Given the description of an element on the screen output the (x, y) to click on. 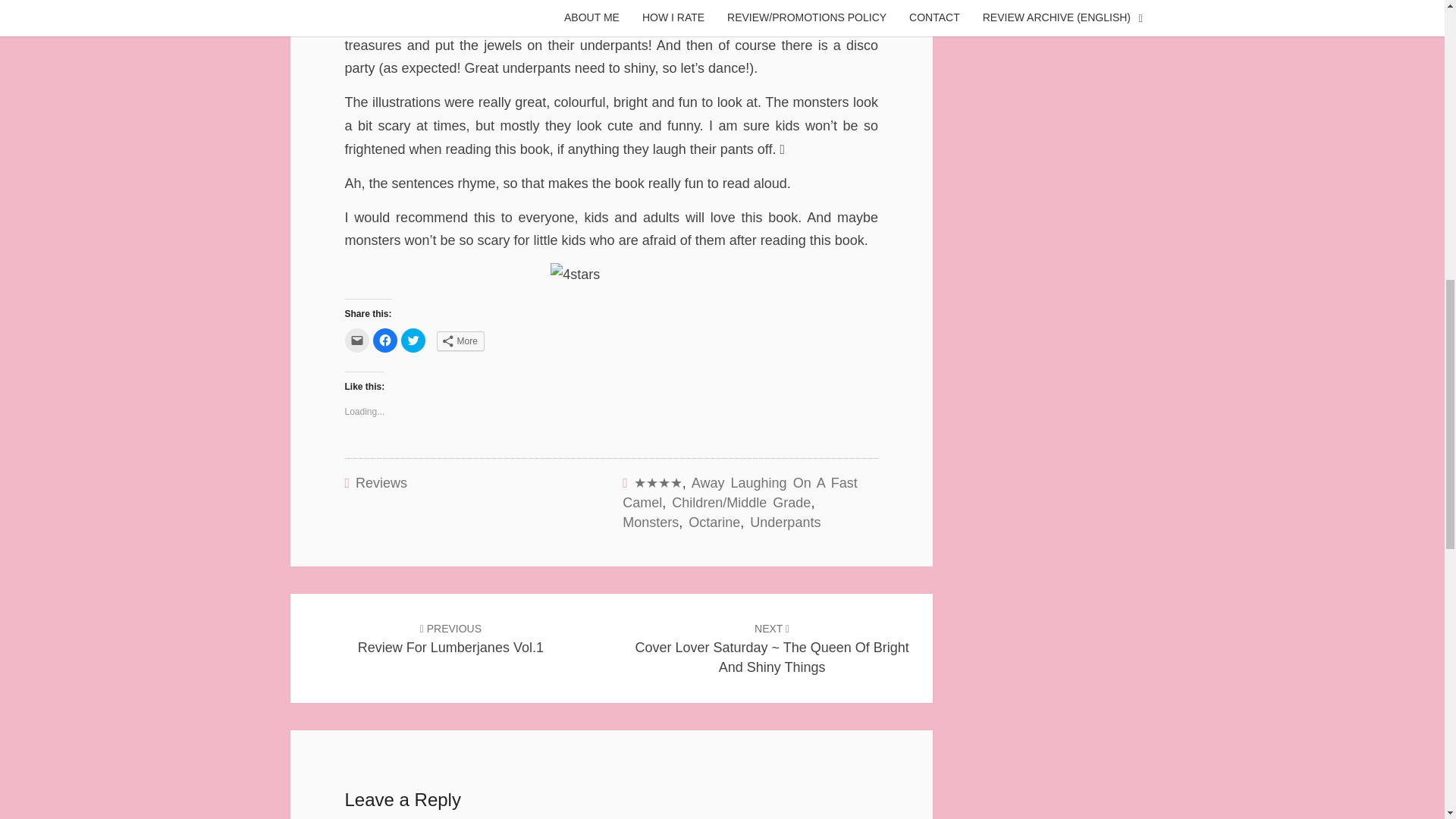
Click to email a link to a friend (355, 340)
Click to share on Facebook (384, 340)
Click to share on Twitter (412, 340)
